Given the description of an element on the screen output the (x, y) to click on. 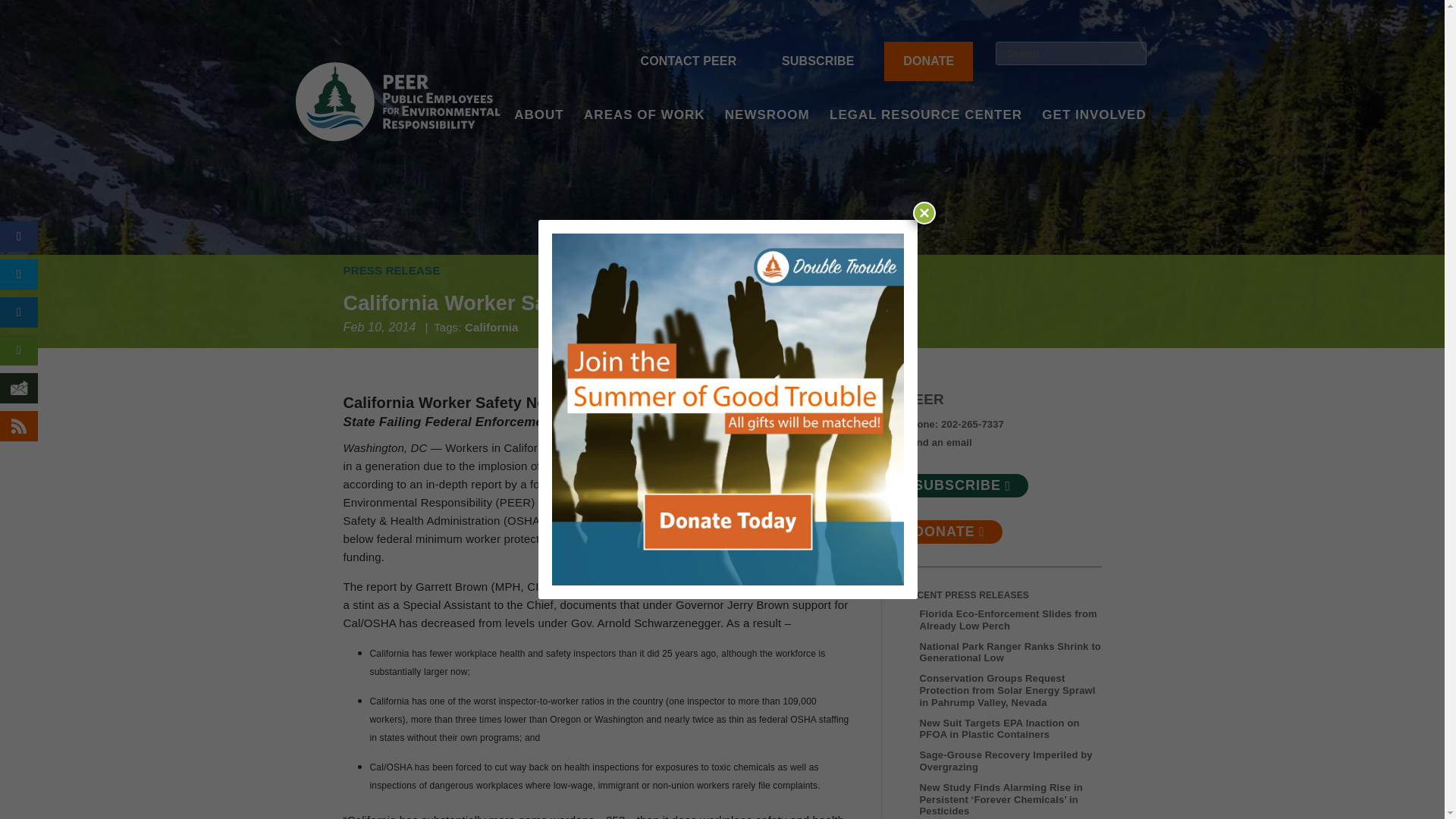
AREAS OF WORK (643, 135)
DONATE (928, 60)
SUBSCRIBE (818, 60)
CONTACT PEER (689, 60)
ABOUT (538, 135)
